Given the description of an element on the screen output the (x, y) to click on. 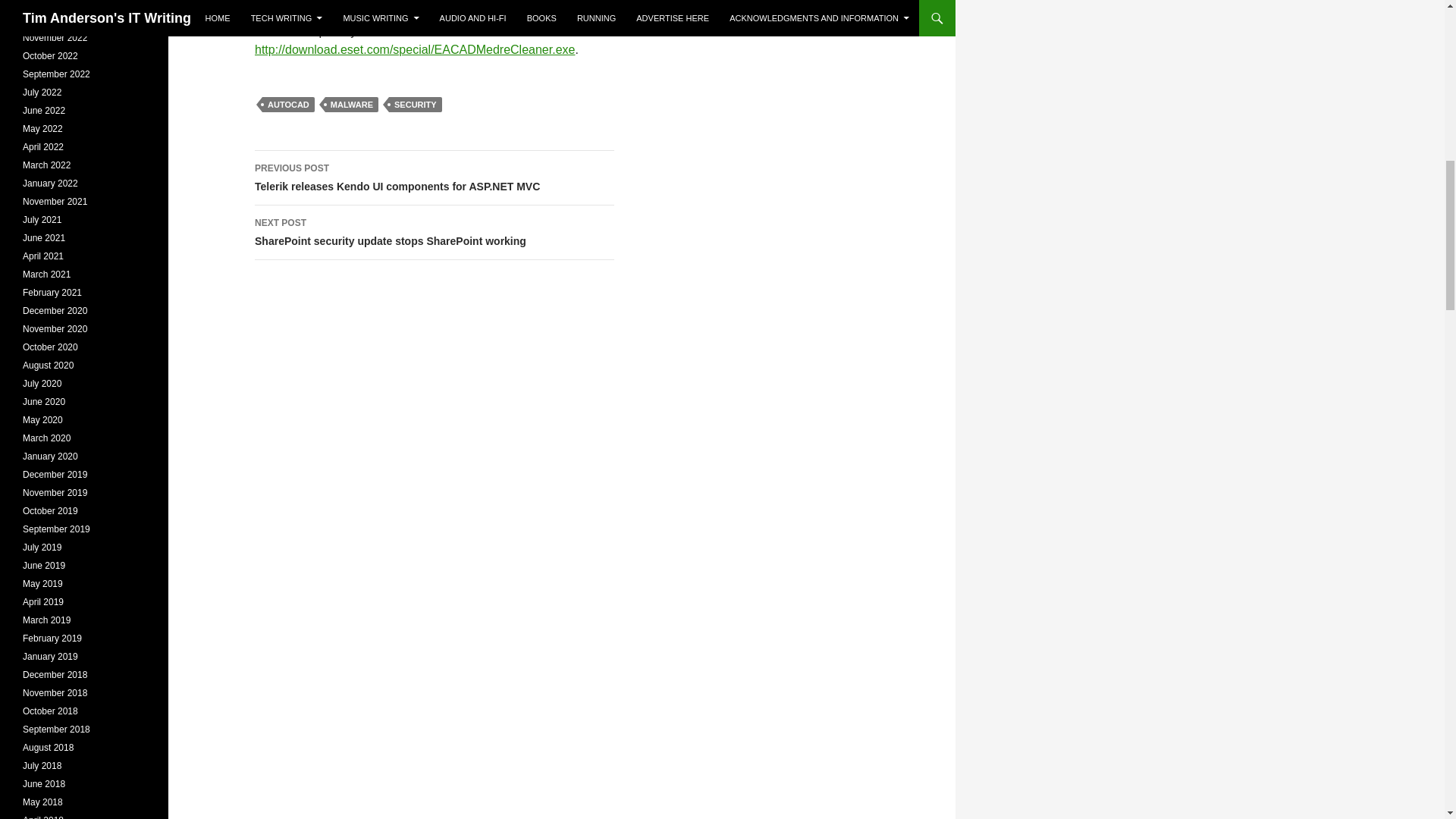
SECURITY (415, 104)
MALWARE (351, 104)
AUTOCAD (288, 104)
